Given the description of an element on the screen output the (x, y) to click on. 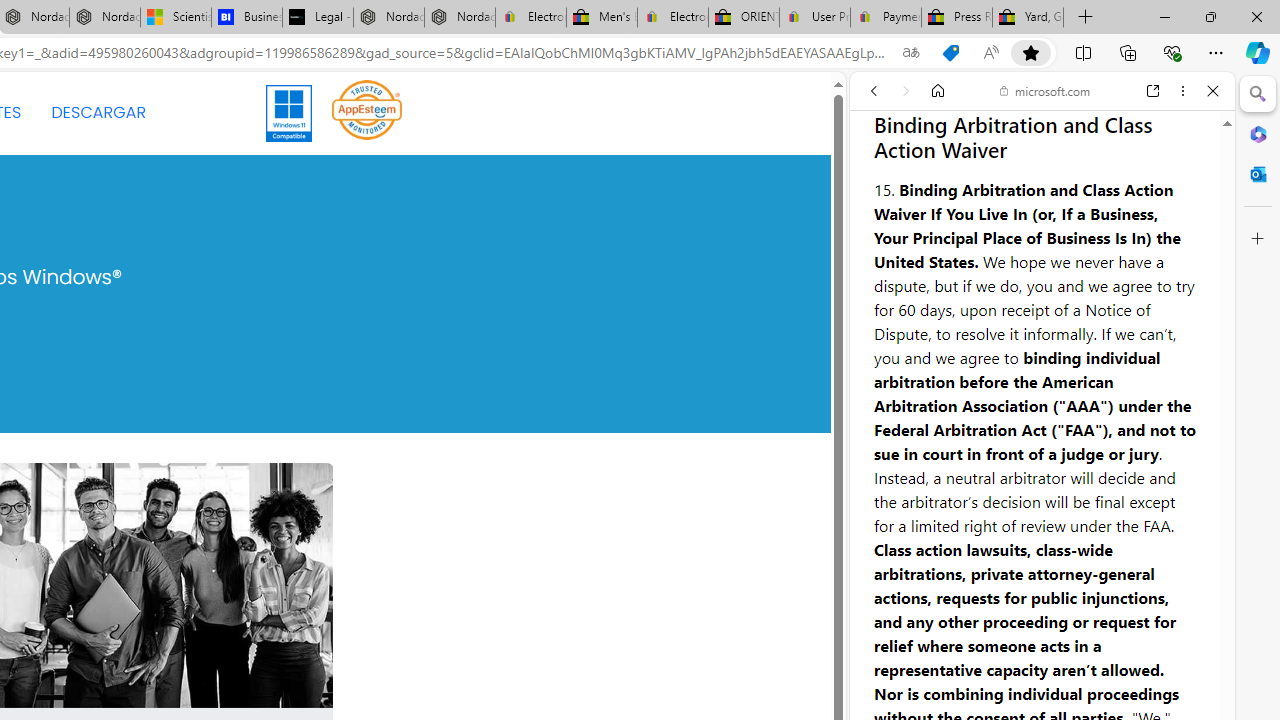
DESCARGAR (98, 112)
DESCARGAR (98, 112)
App Esteem (367, 112)
